Given the description of an element on the screen output the (x, y) to click on. 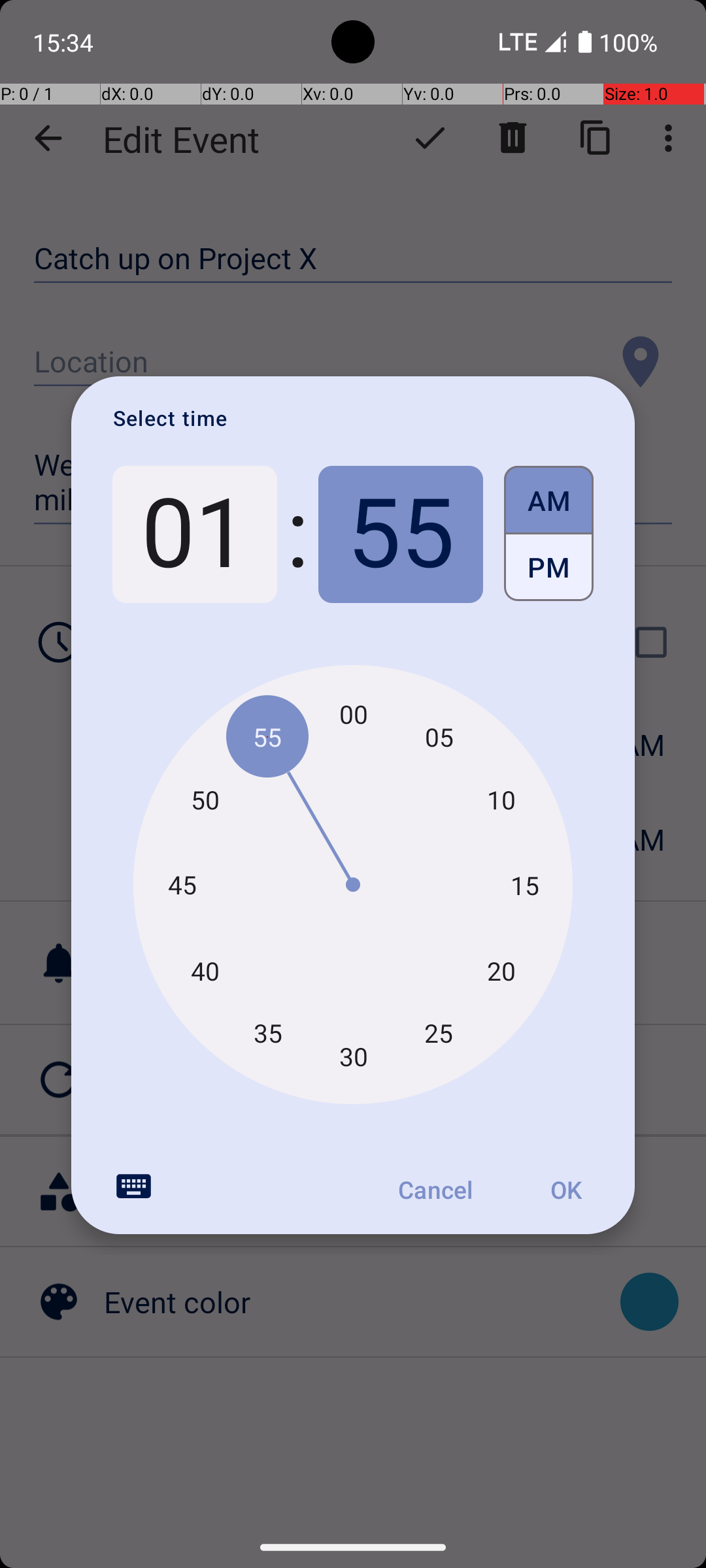
01 Element type: android.view.View (194, 534)
Select AM or PM Element type: android.widget.LinearLayout (548, 534)
